Given the description of an element on the screen output the (x, y) to click on. 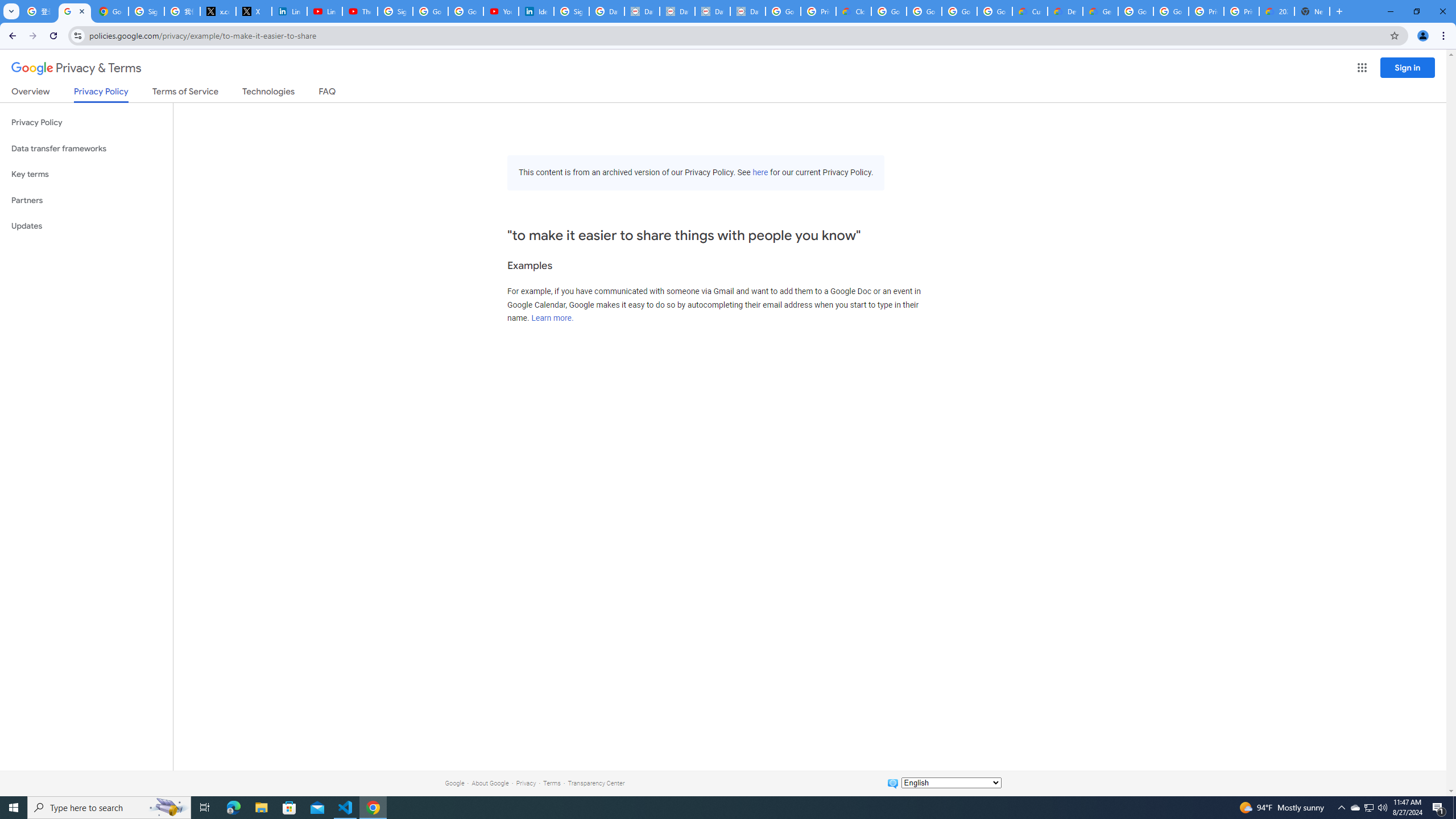
Data Privacy Framework (712, 11)
Google Workspace - Specific Terms (959, 11)
here (760, 172)
Data transfer frameworks (86, 148)
Customer Care | Google Cloud (1029, 11)
LinkedIn - YouTube (324, 11)
X (253, 11)
Change language: (951, 782)
Learn more. (552, 318)
